Given the description of an element on the screen output the (x, y) to click on. 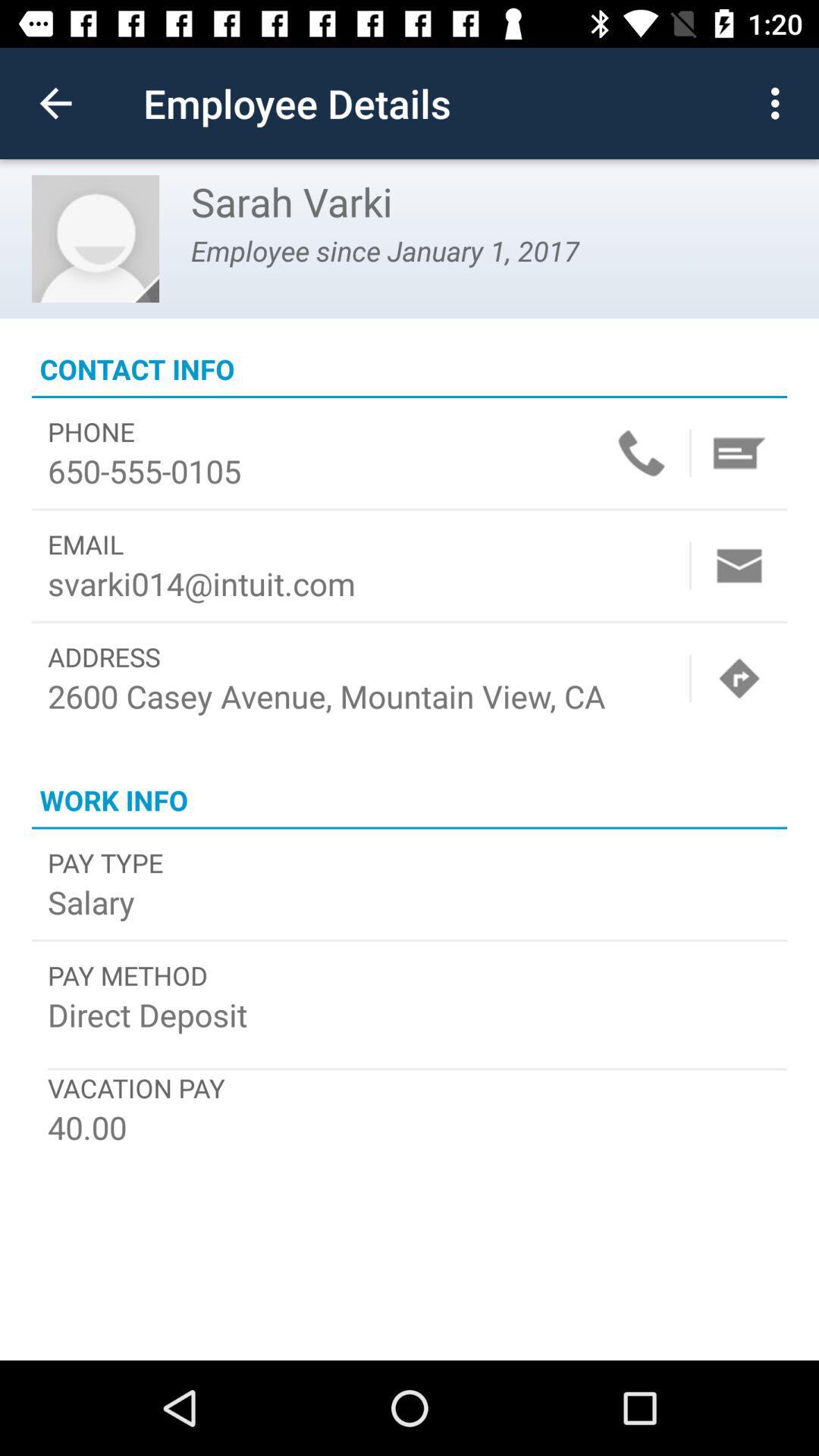
add to address book (739, 453)
